Given the description of an element on the screen output the (x, y) to click on. 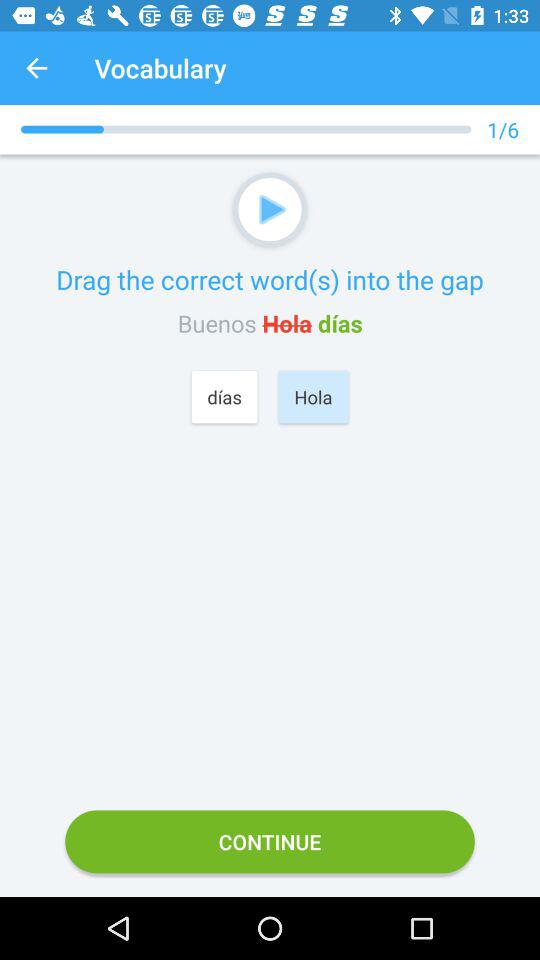
scroll to the continue (269, 841)
